Given the description of an element on the screen output the (x, y) to click on. 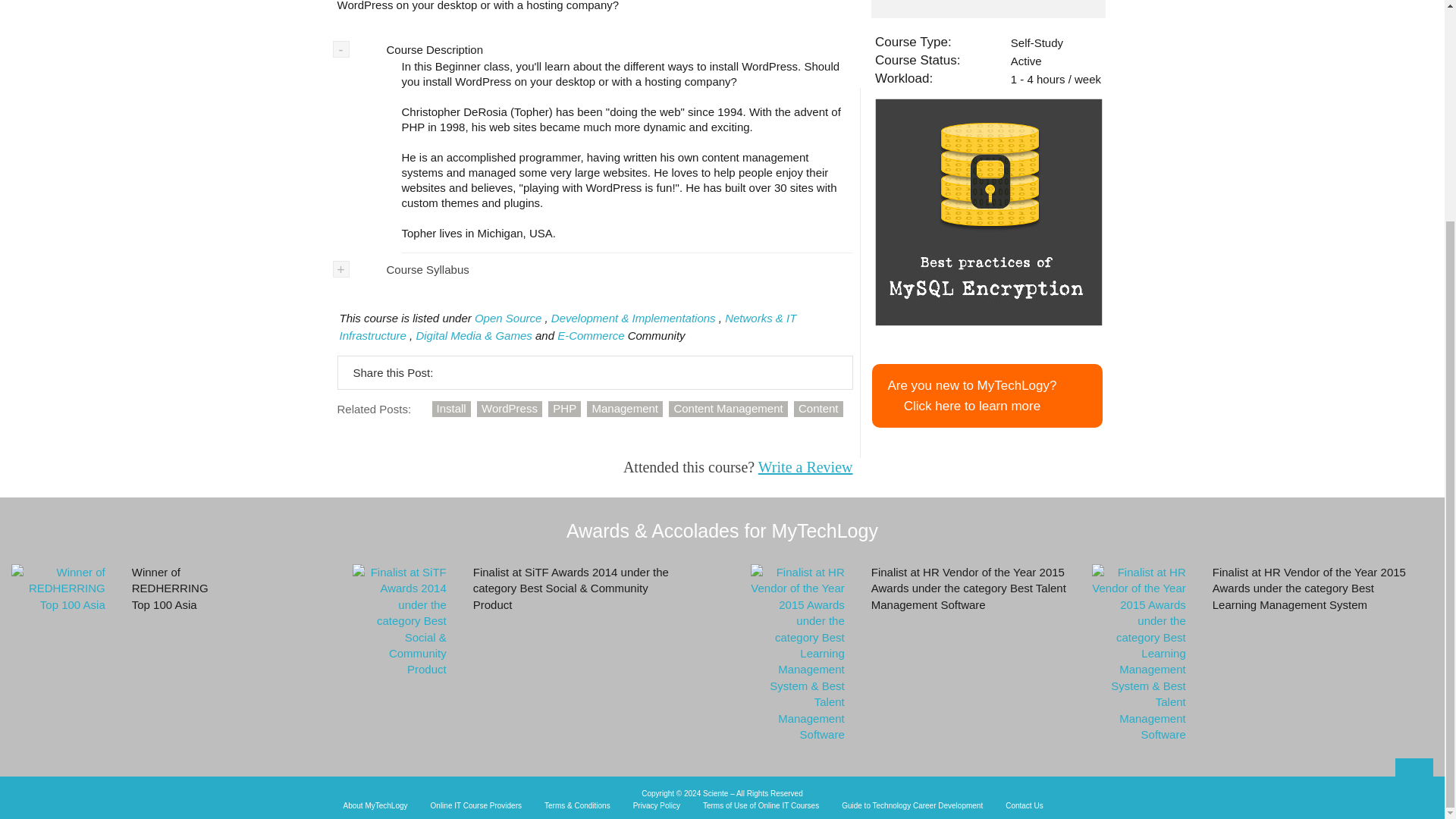
Open Source (507, 318)
Terms of Use of Online IT Courses (760, 805)
Best Practices of MySQL Encryption (988, 211)
Content (818, 408)
Guide to Technology Career Development (911, 805)
Winner of REDHERRING Top 100 Asia (57, 588)
About MyTechLogy (374, 805)
E-Commerce (590, 335)
Privacy Policy (656, 805)
Online IT Course Providers (475, 805)
